Given the description of an element on the screen output the (x, y) to click on. 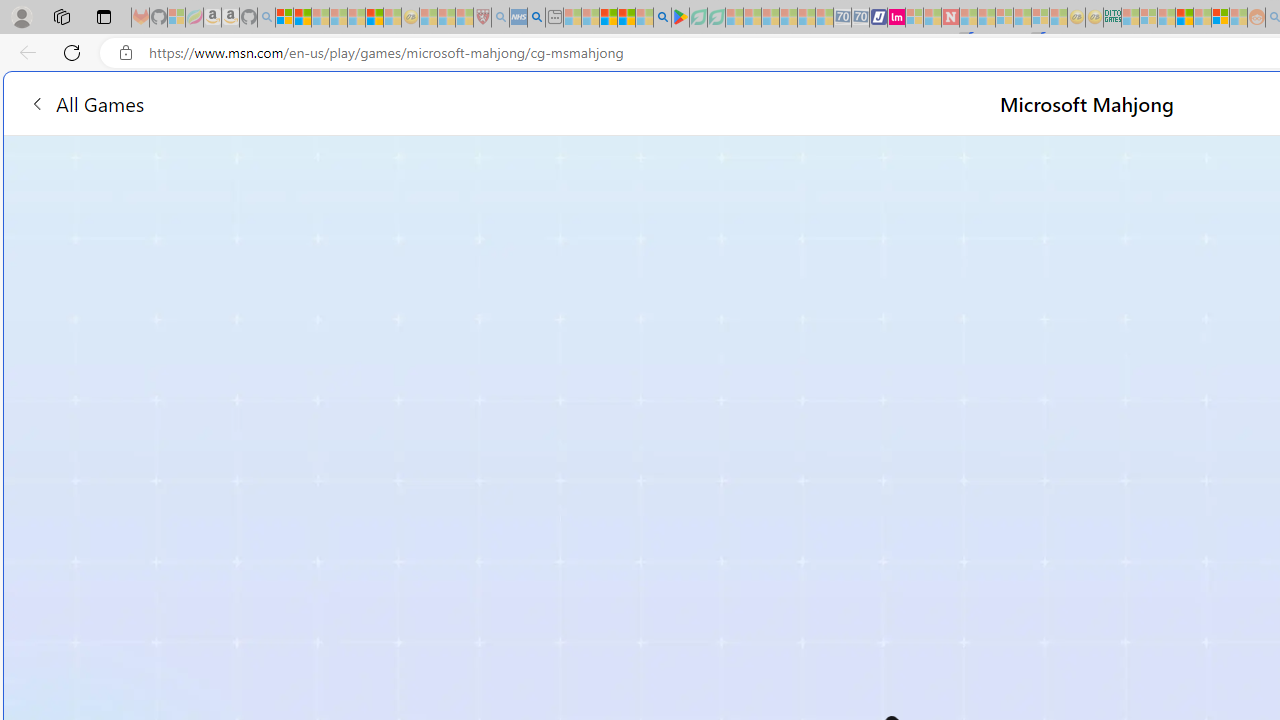
Expert Portfolios (1184, 17)
Pets - MSN (626, 17)
